Given the description of an element on the screen output the (x, y) to click on. 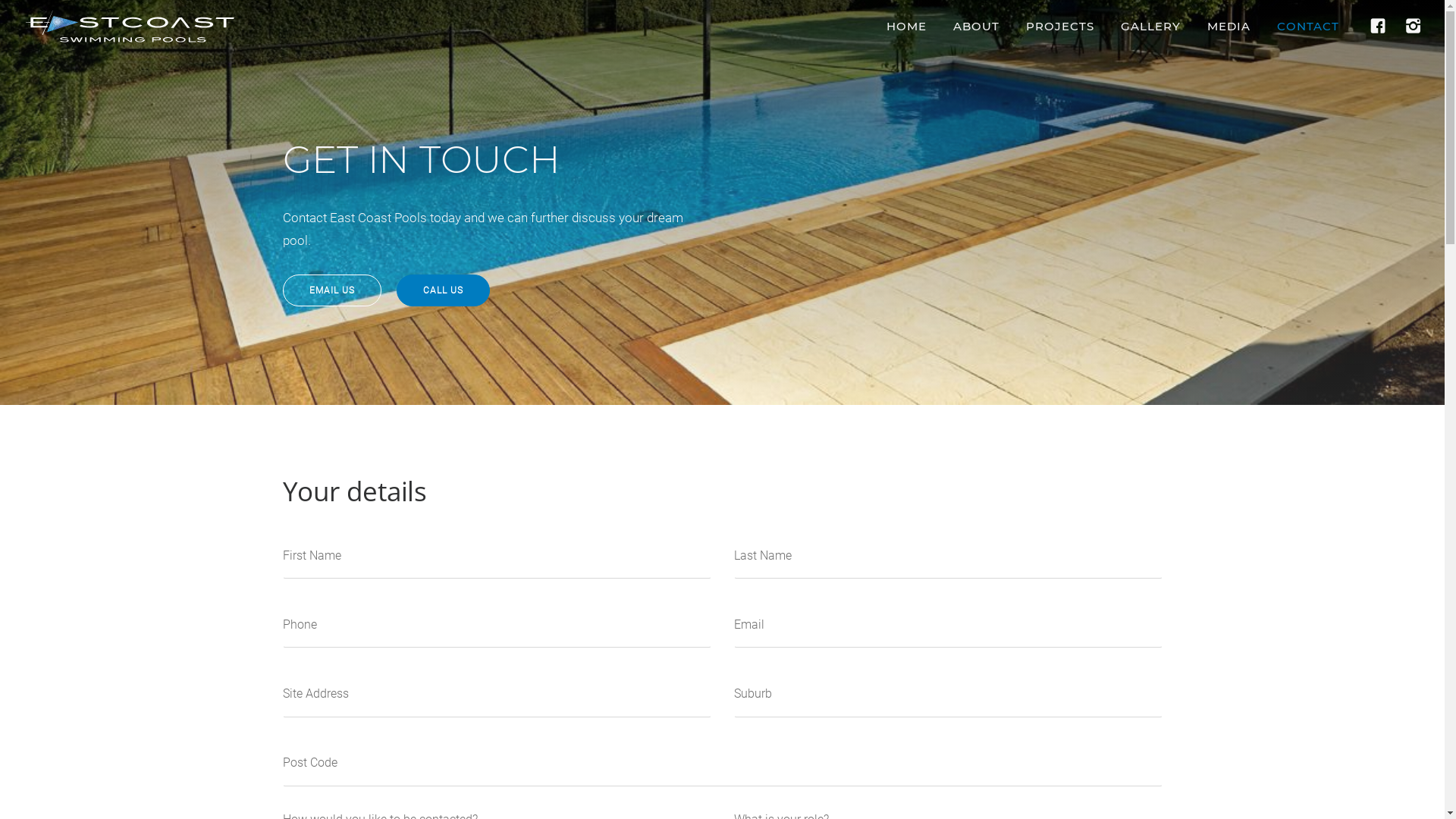
EMAIL US Element type: text (331, 290)
ABOUT Element type: text (976, 25)
HOME Element type: text (906, 25)
GALLERY Element type: text (1150, 25)
CONTACT Element type: text (1307, 25)
CALL US Element type: text (442, 290)
MEDIA Element type: text (1228, 25)
PROJECTS Element type: text (1059, 25)
